Given the description of an element on the screen output the (x, y) to click on. 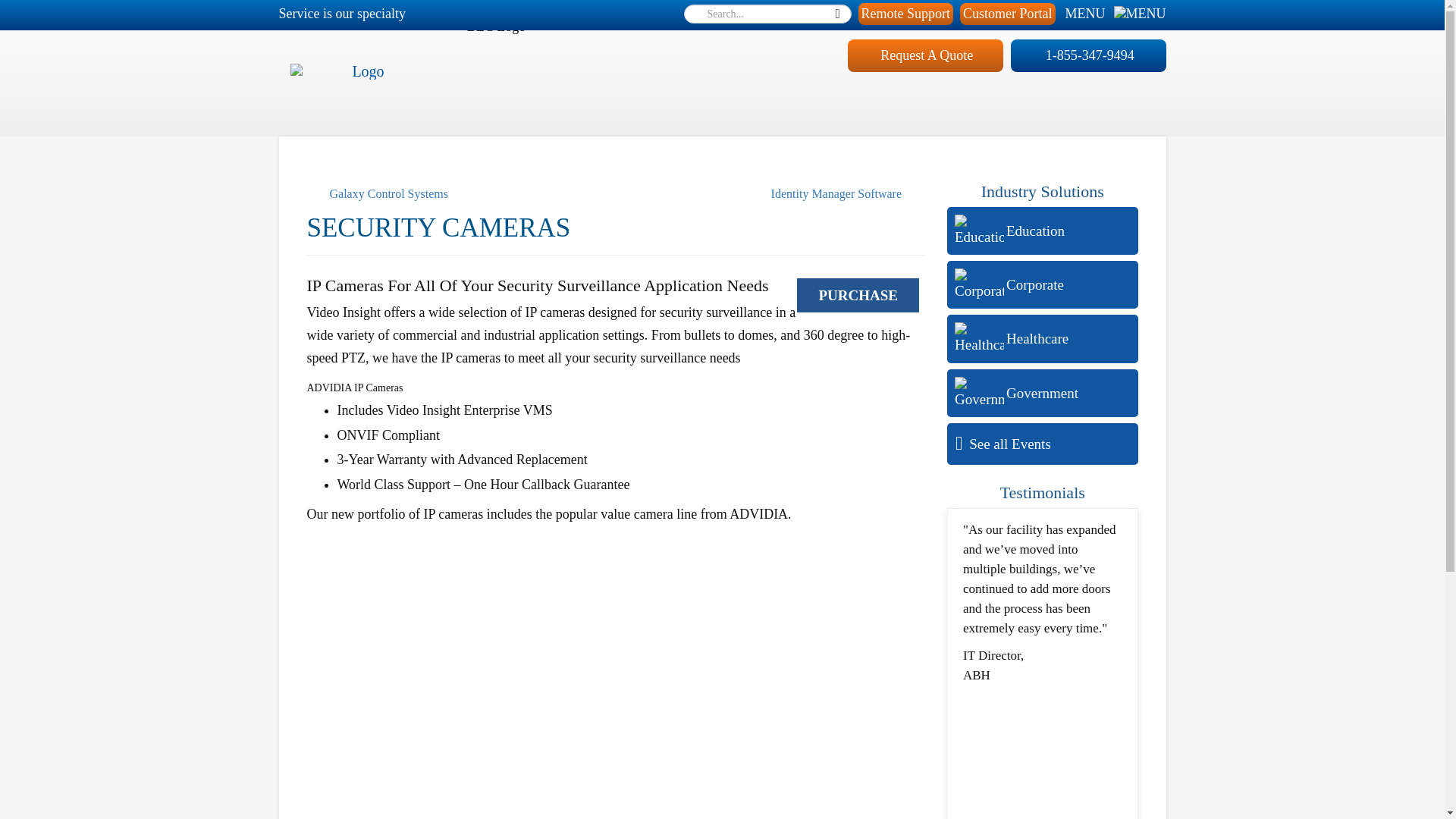
Request A Quote (925, 55)
Corporate (1042, 284)
Service (701, 13)
Contact (1090, 13)
Healthcare (1042, 338)
1-855-347-9494 (1088, 55)
Supply Catalog (895, 13)
Identity Manager Software (847, 193)
Customer Portal (1007, 14)
PURCHASE (857, 294)
